Given the description of an element on the screen output the (x, y) to click on. 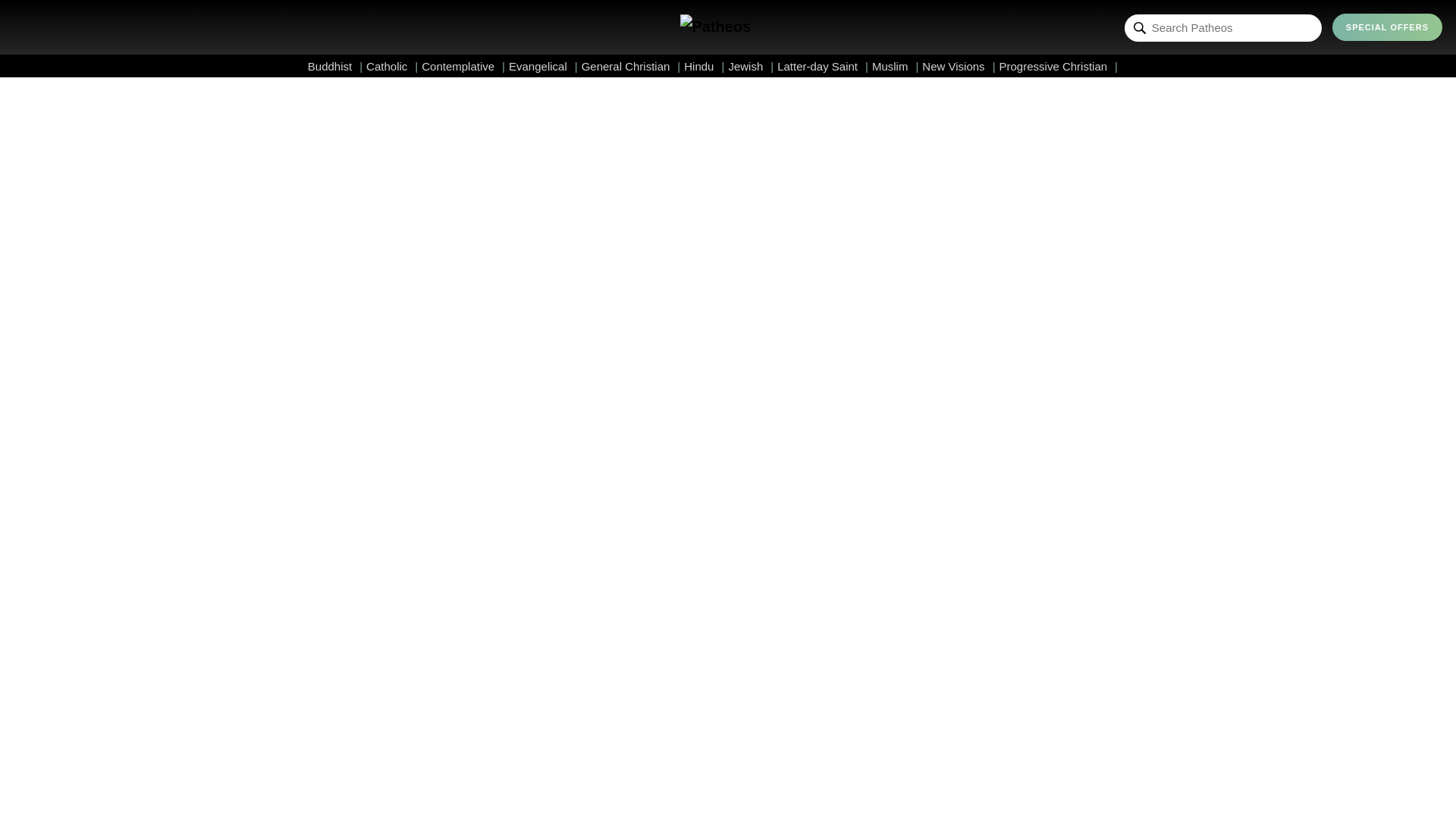
New Visions (957, 65)
General Christian (630, 65)
Hindu (703, 65)
Buddhist (334, 65)
Muslim (895, 65)
Evangelical (543, 65)
Catholic (391, 65)
Latter-day Saint (822, 65)
Jewish (750, 65)
Contemplative (463, 65)
